Given the description of an element on the screen output the (x, y) to click on. 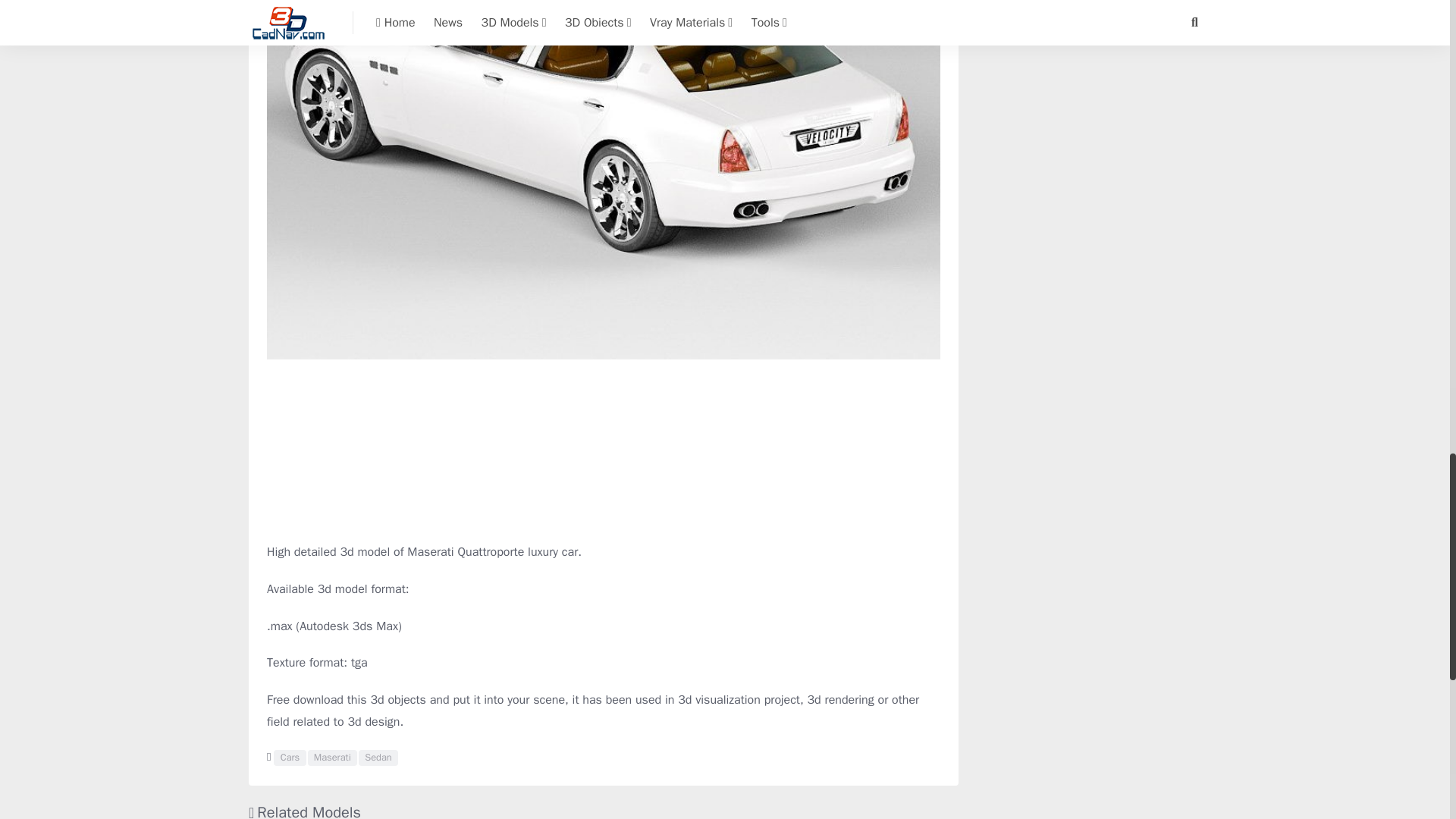
Sedan 3d model (377, 758)
Advertisement (603, 450)
Maserati 3d model (331, 758)
Cars 3d model (289, 758)
Advertisement (1088, 54)
